Given the description of an element on the screen output the (x, y) to click on. 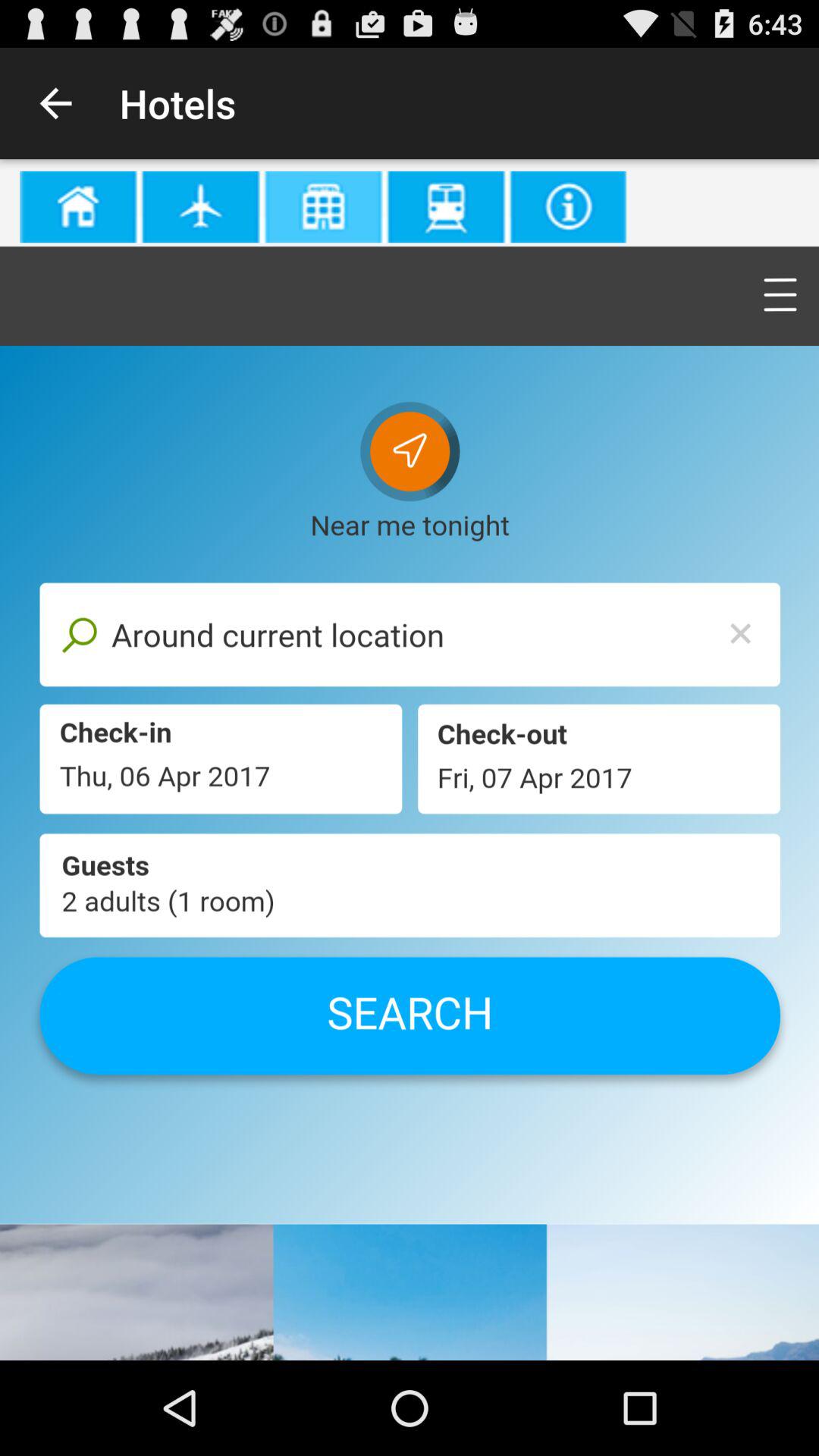
locate near by (409, 759)
